Given the description of an element on the screen output the (x, y) to click on. 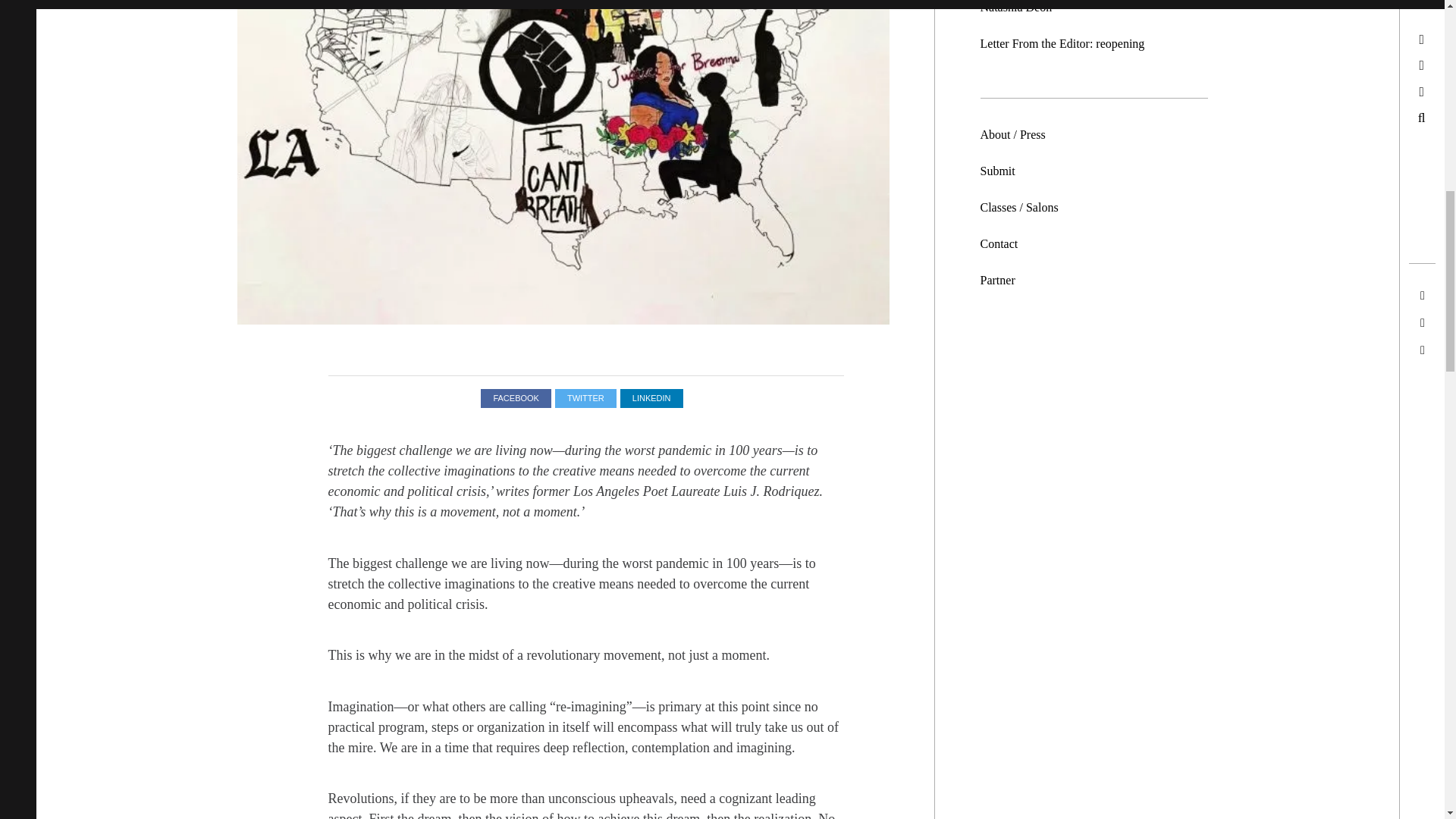
Click to share on Twitter (584, 398)
TWITTER (584, 398)
Click to share on Facebook (515, 398)
Click to share on LinkedIn (651, 398)
LINKEDIN (651, 398)
FACEBOOK (515, 398)
